Given the description of an element on the screen output the (x, y) to click on. 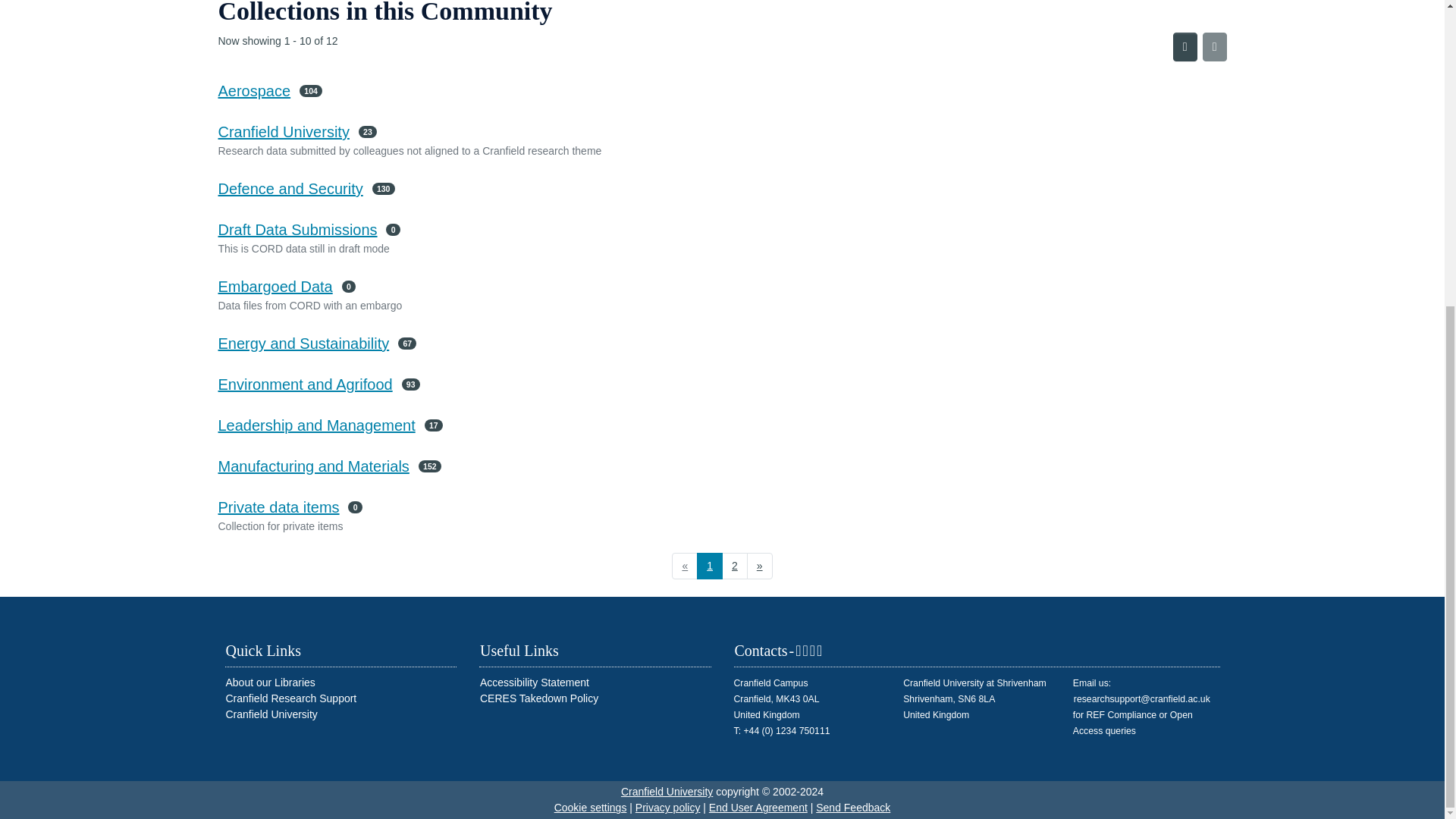
Cranfield University (283, 131)
Leadership and Management (316, 425)
Defence and Security (290, 188)
Embargoed Data (275, 286)
Environment and Agrifood (305, 384)
Aerospace (254, 90)
Draft Data Submissions (297, 229)
Energy and Sustainability (304, 343)
